Given the description of an element on the screen output the (x, y) to click on. 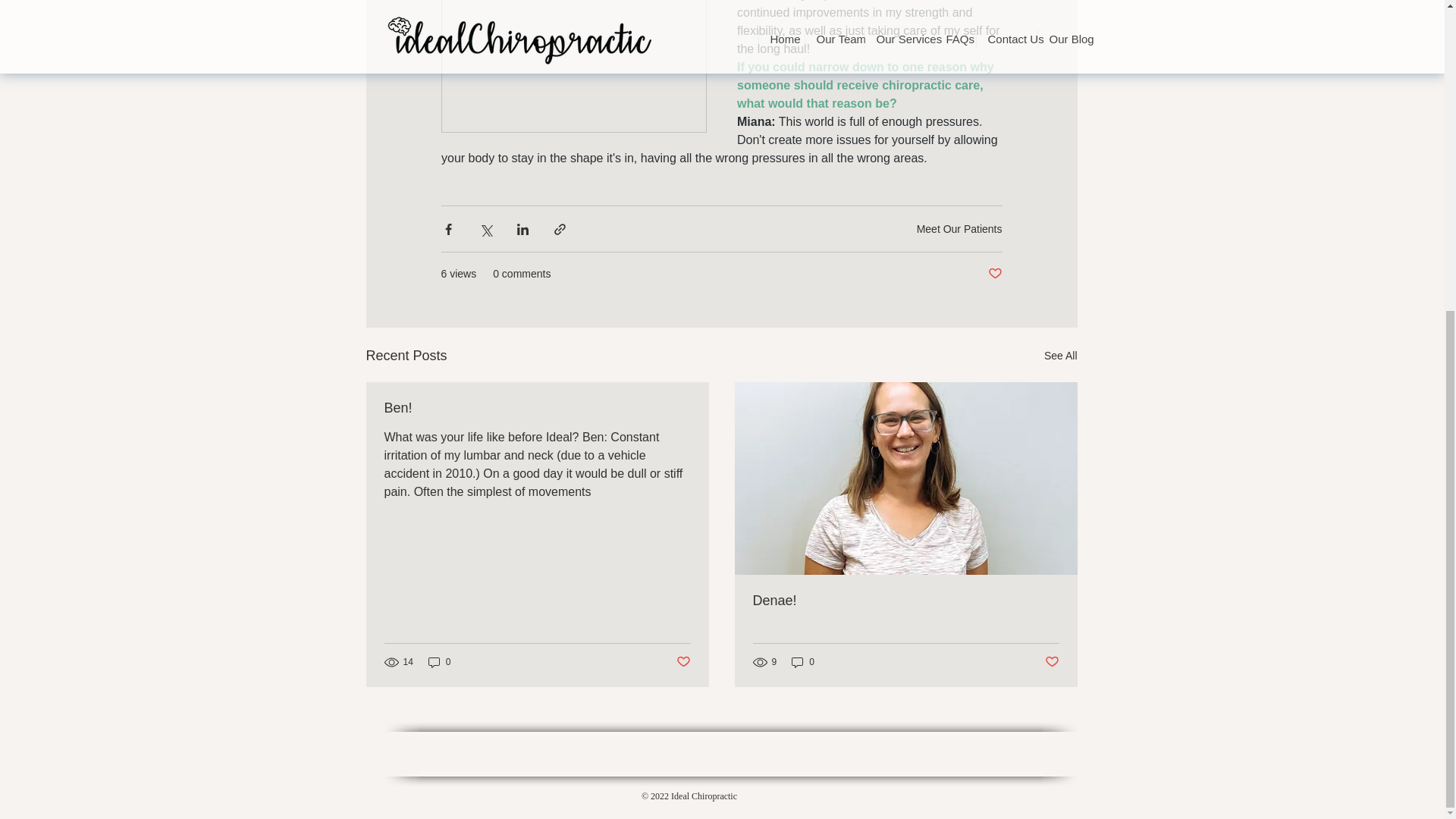
Meet Our Patients (960, 227)
Ben! (537, 408)
0 (802, 662)
See All (1060, 355)
0 (439, 662)
Post not marked as liked (1052, 662)
Denae! (905, 600)
Post not marked as liked (683, 662)
Post not marked as liked (994, 273)
